Given the description of an element on the screen output the (x, y) to click on. 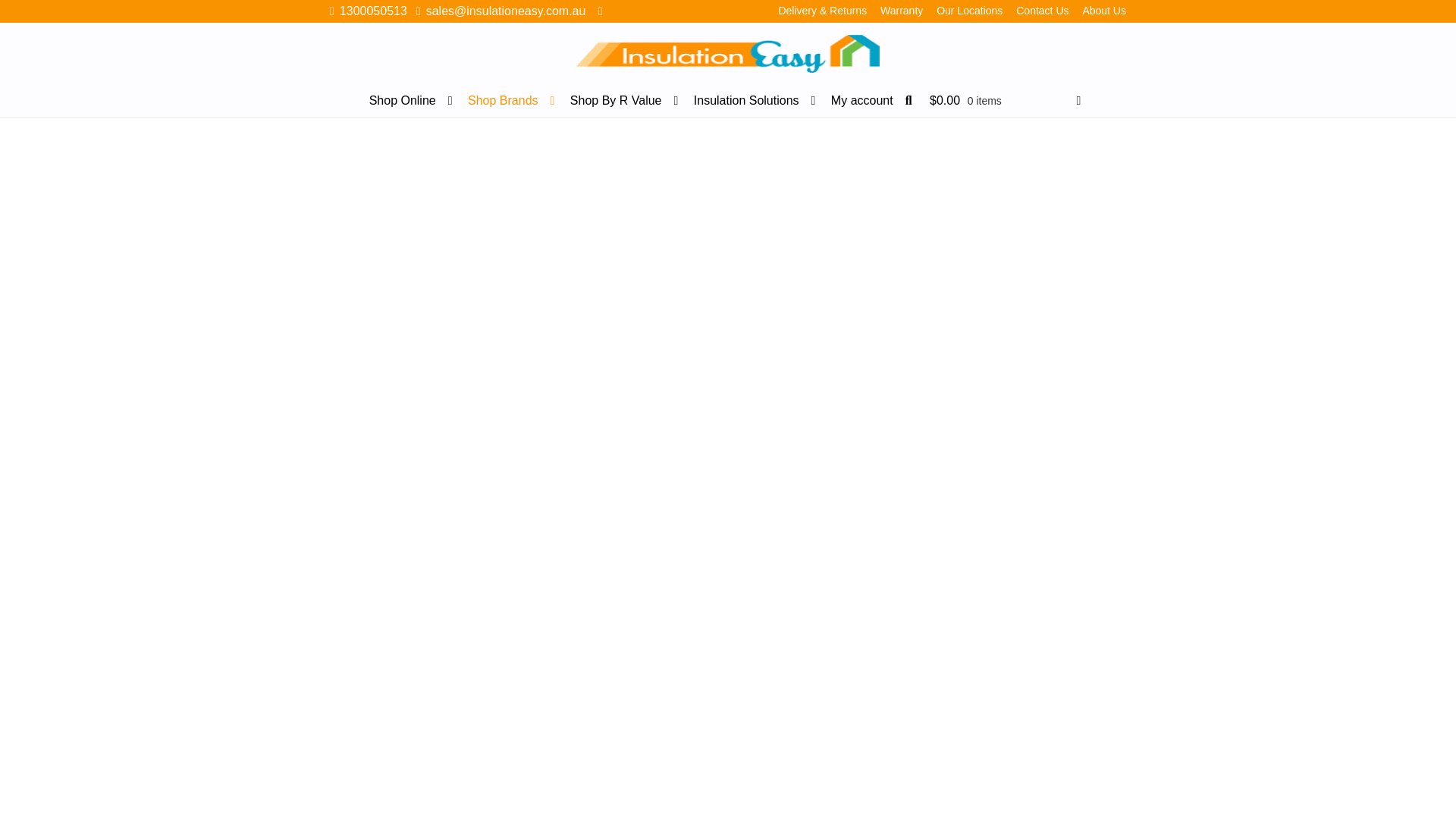
Contact Us (1042, 10)
Shop Online (410, 101)
View your shopping cart (1005, 102)
About Us (1104, 10)
Warranty (901, 10)
1300050513 (365, 10)
Our Locations (969, 10)
